Given the description of an element on the screen output the (x, y) to click on. 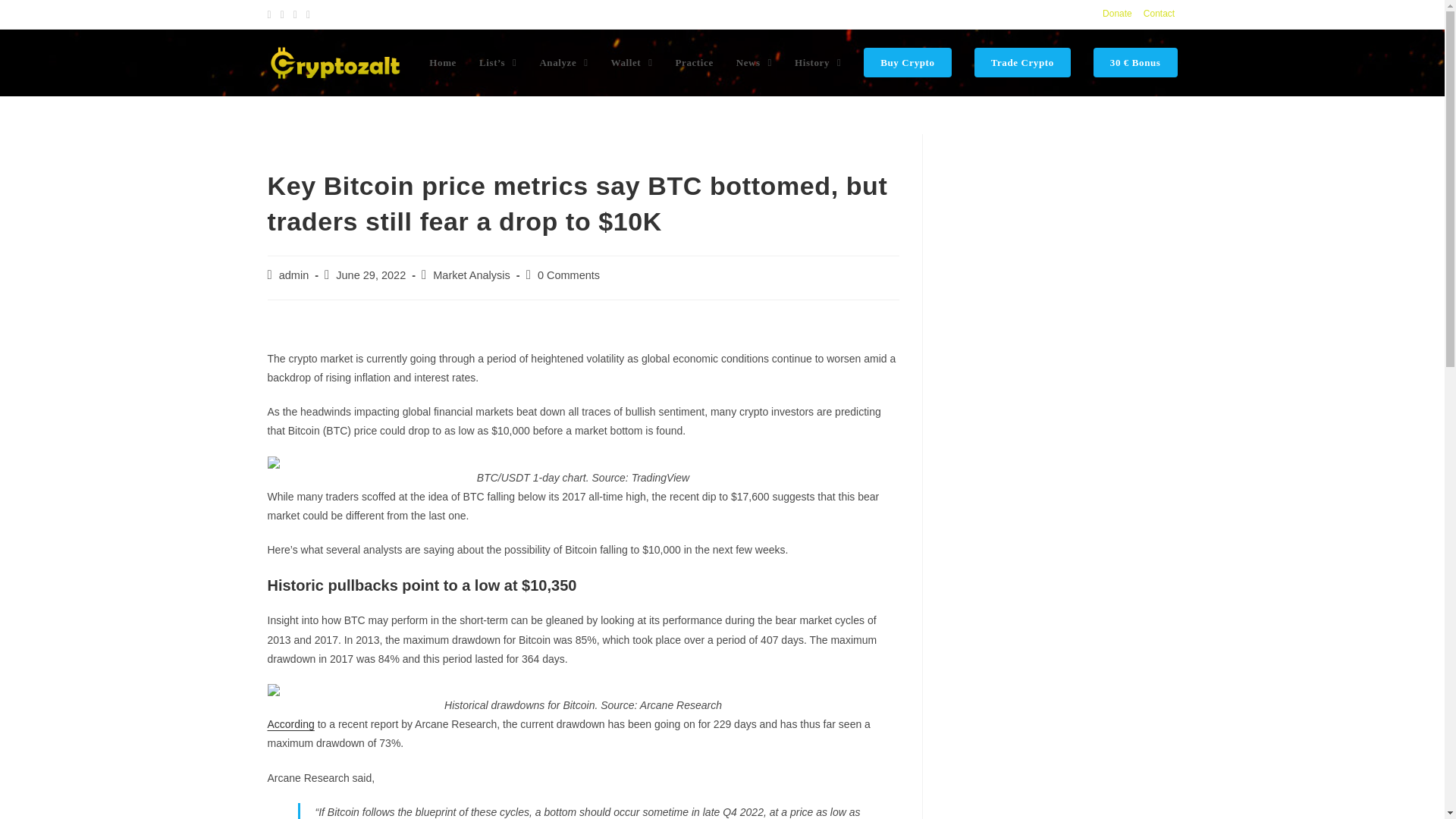
Trade Crypto (1021, 62)
Buy Crypto (906, 62)
Posts by admin (293, 275)
Home (442, 62)
Wallet (631, 62)
Contact (1158, 13)
Donate (1117, 13)
Analyze (562, 62)
Practice (693, 62)
History (817, 62)
